Given the description of an element on the screen output the (x, y) to click on. 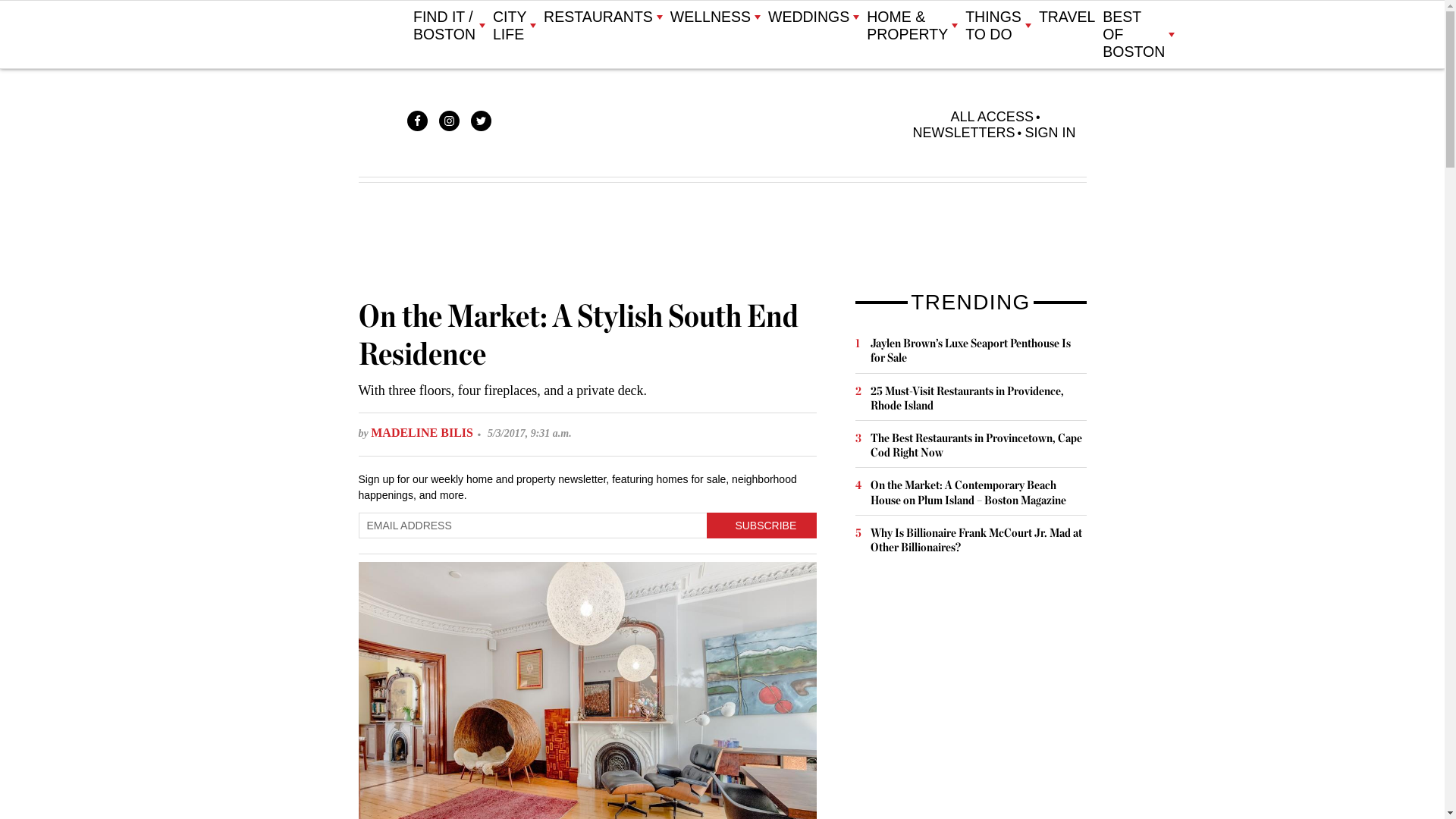
THINGS TO DO (997, 25)
3rd party ad content (969, 698)
WELLNESS (714, 16)
3rd party ad content (721, 239)
RESTAURANTS (602, 16)
Subscribe (761, 525)
WEDDINGS (813, 16)
